Given the description of an element on the screen output the (x, y) to click on. 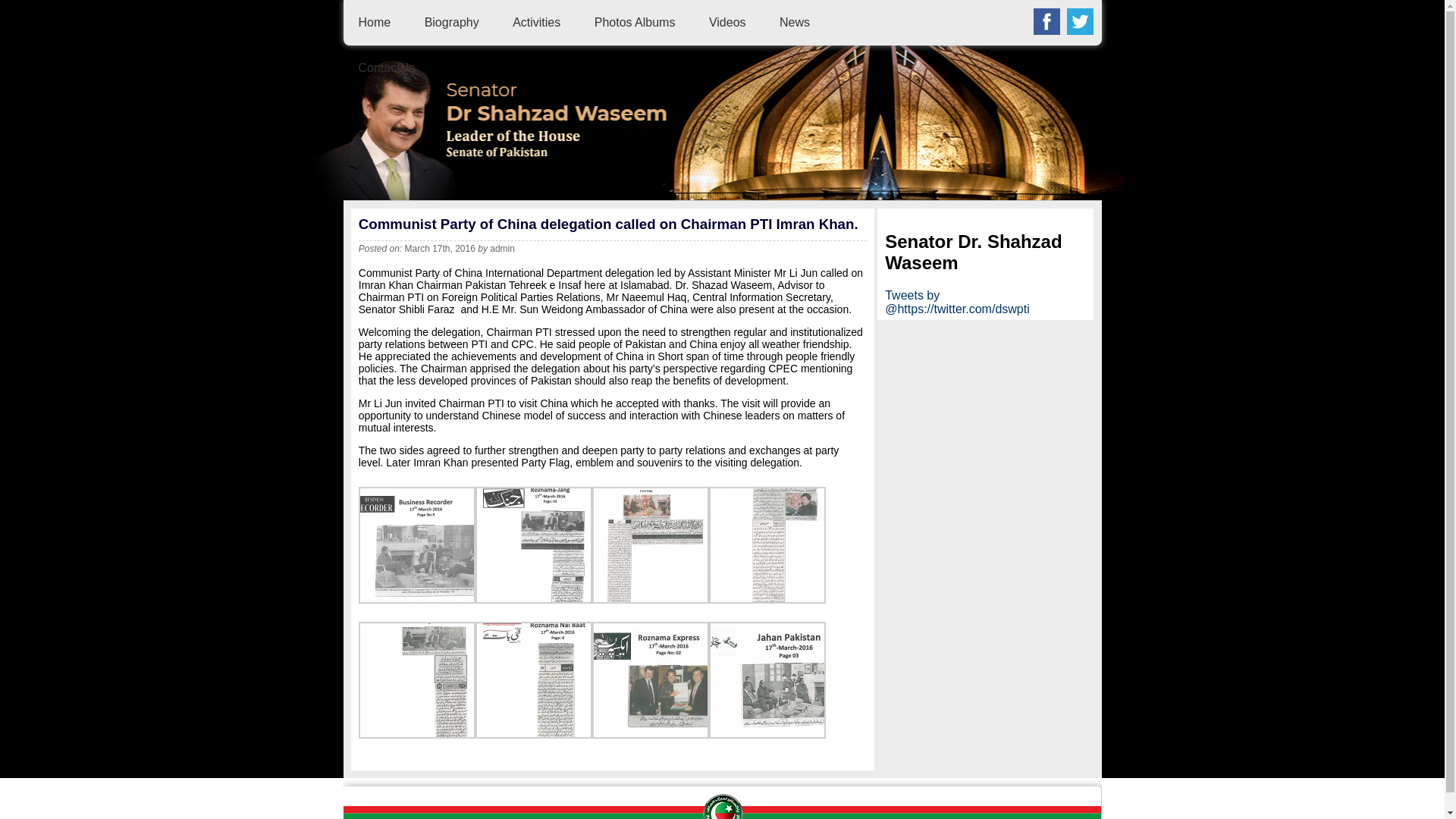
Home (374, 21)
Photos Albums (634, 21)
ContactUs (386, 67)
Videos (727, 21)
News (793, 21)
Biography (452, 21)
Activities (536, 21)
